Given the description of an element on the screen output the (x, y) to click on. 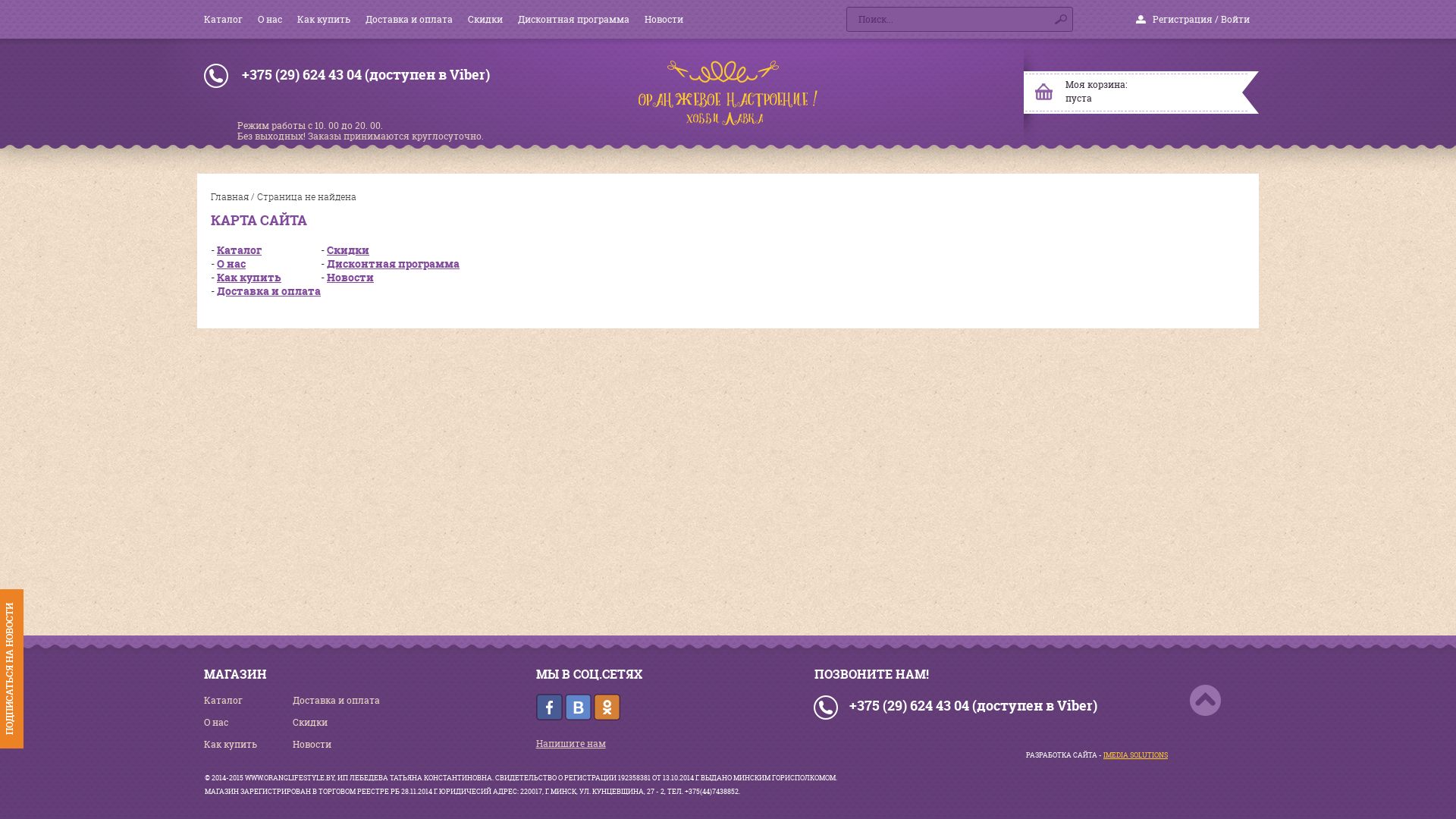
IMEDIA SOLUTIONS Element type: text (1135, 754)
